Given the description of an element on the screen output the (x, y) to click on. 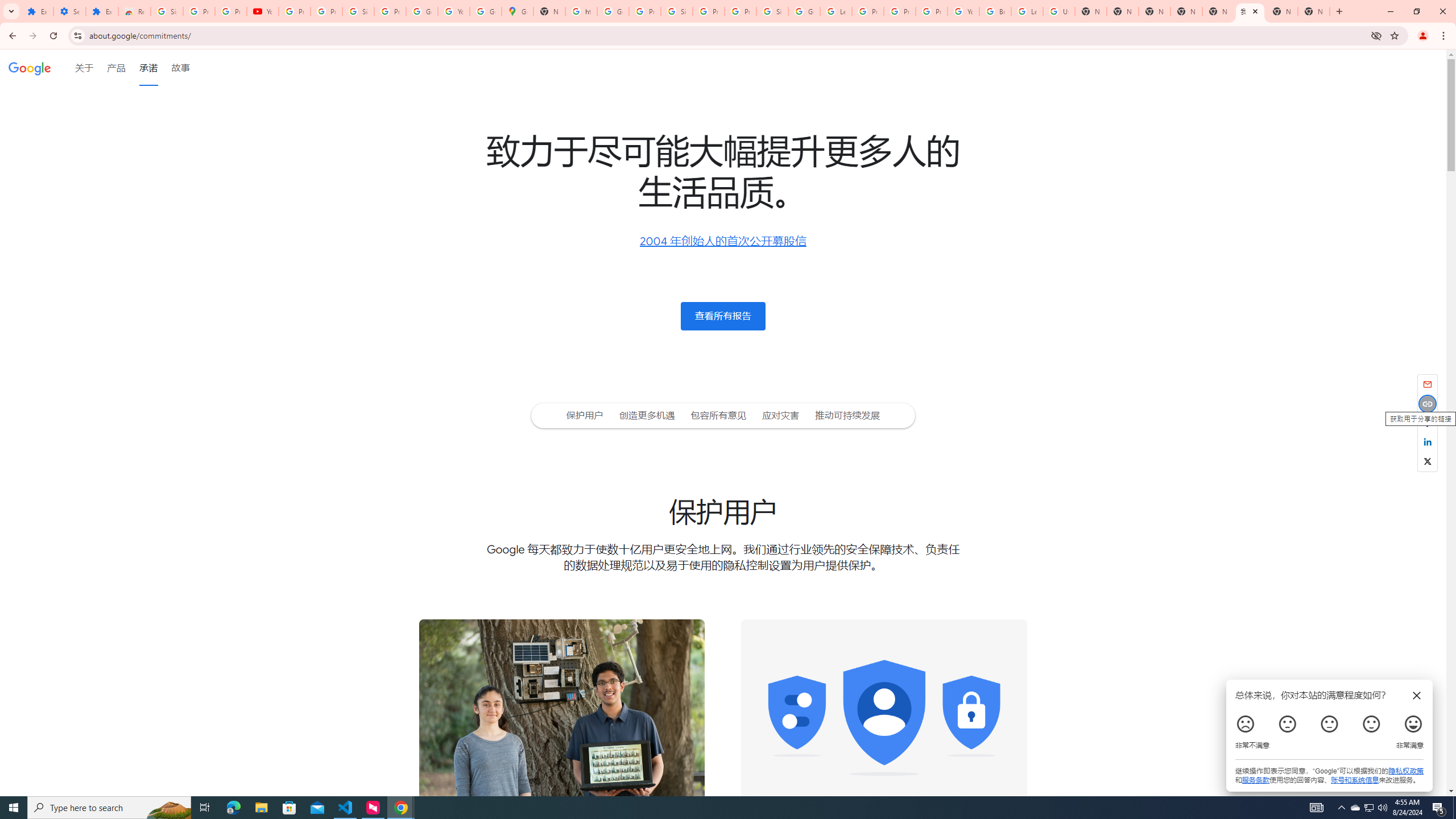
New Tab (1154, 11)
Settings (69, 11)
Privacy Help Center - Policies Help (899, 11)
